Given the description of an element on the screen output the (x, y) to click on. 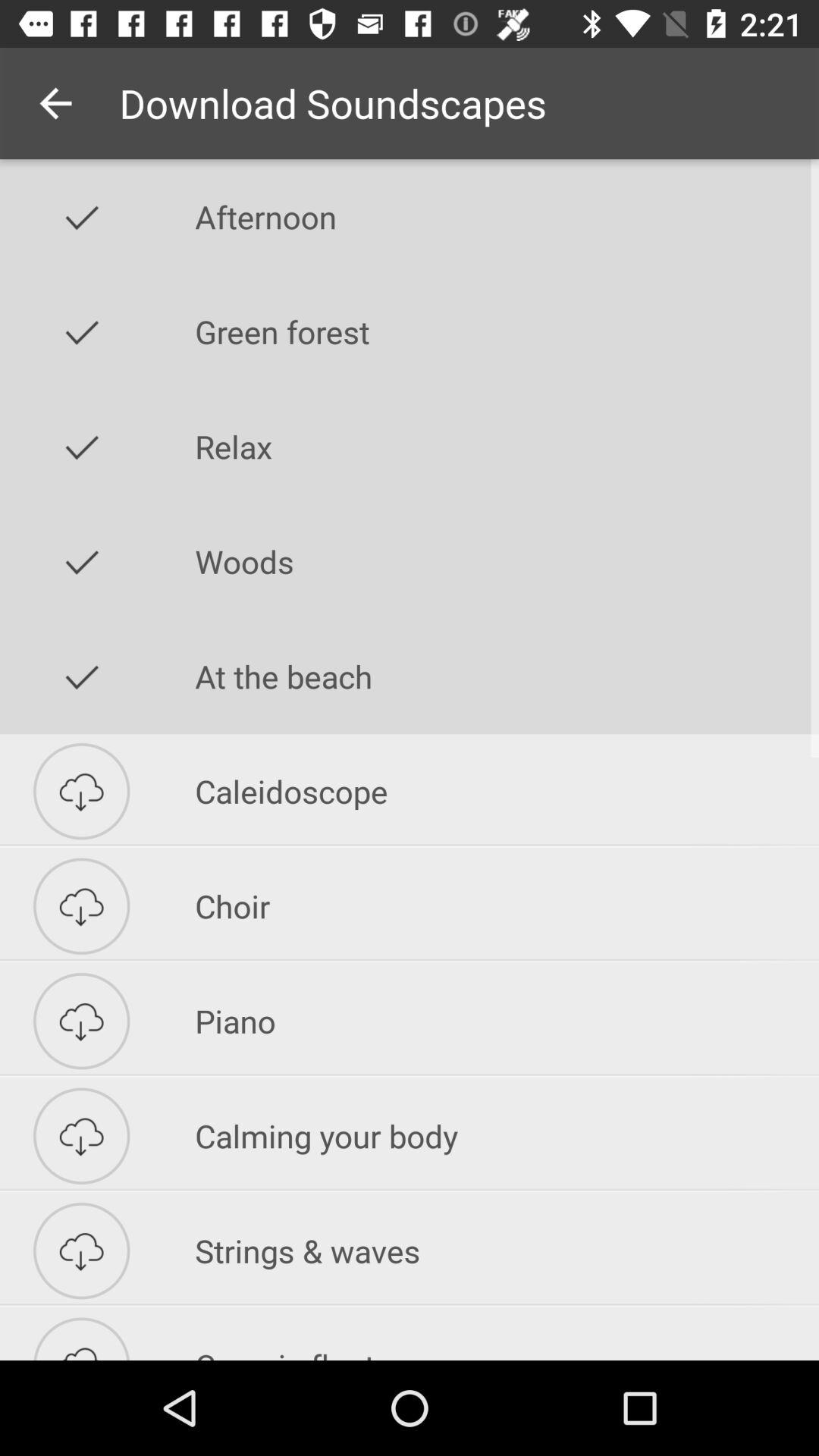
turn off the icon below the woods item (507, 676)
